Given the description of an element on the screen output the (x, y) to click on. 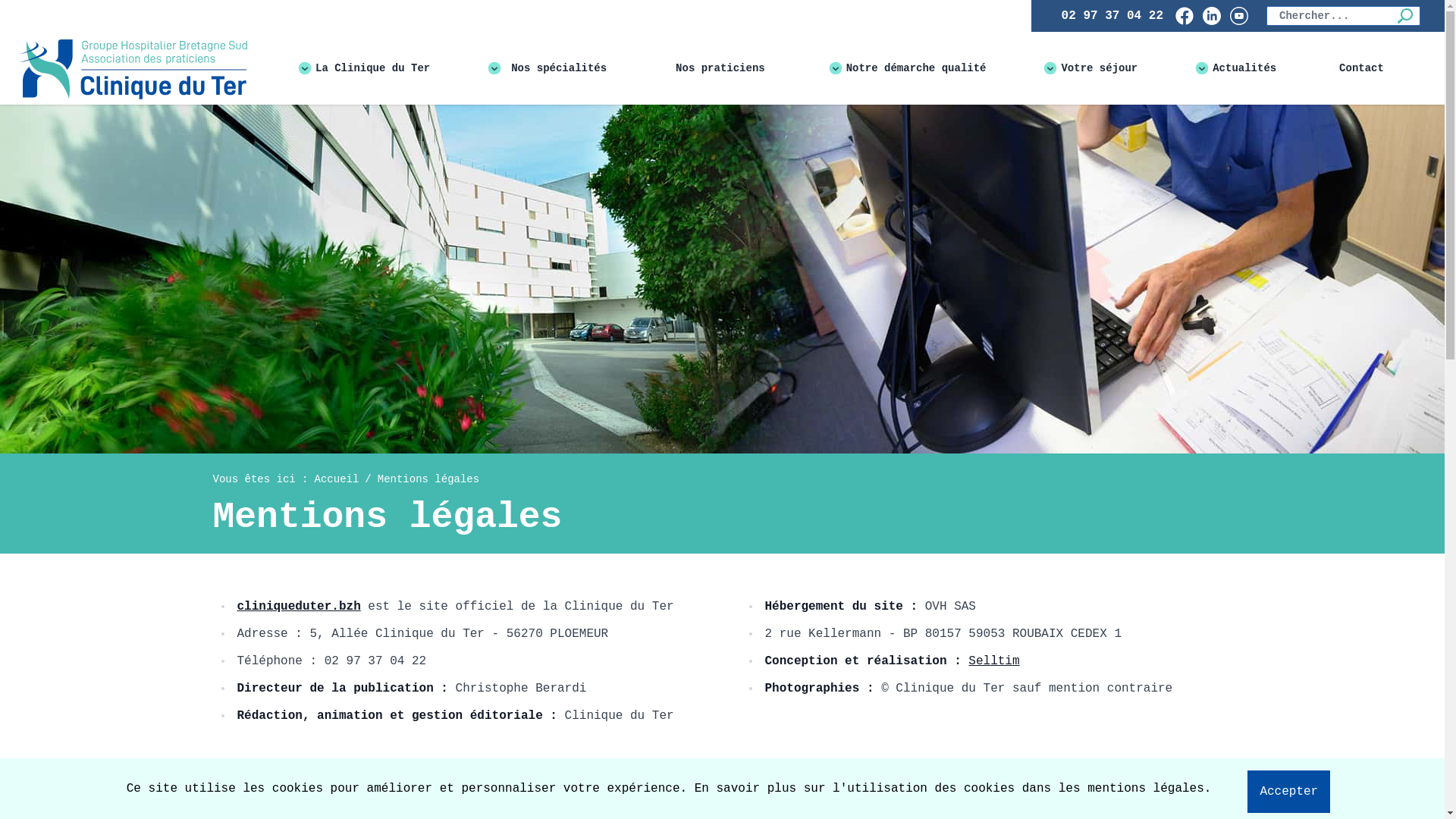
Nos praticiens Element type: text (720, 67)
Selltim Element type: text (993, 661)
Accueil Element type: text (336, 478)
Accepter Element type: text (1288, 791)
02 97 37 04 22 Element type: text (1112, 15)
Contact Element type: text (1361, 67)
cliniqueduter.bzh Element type: text (298, 606)
